Given the description of an element on the screen output the (x, y) to click on. 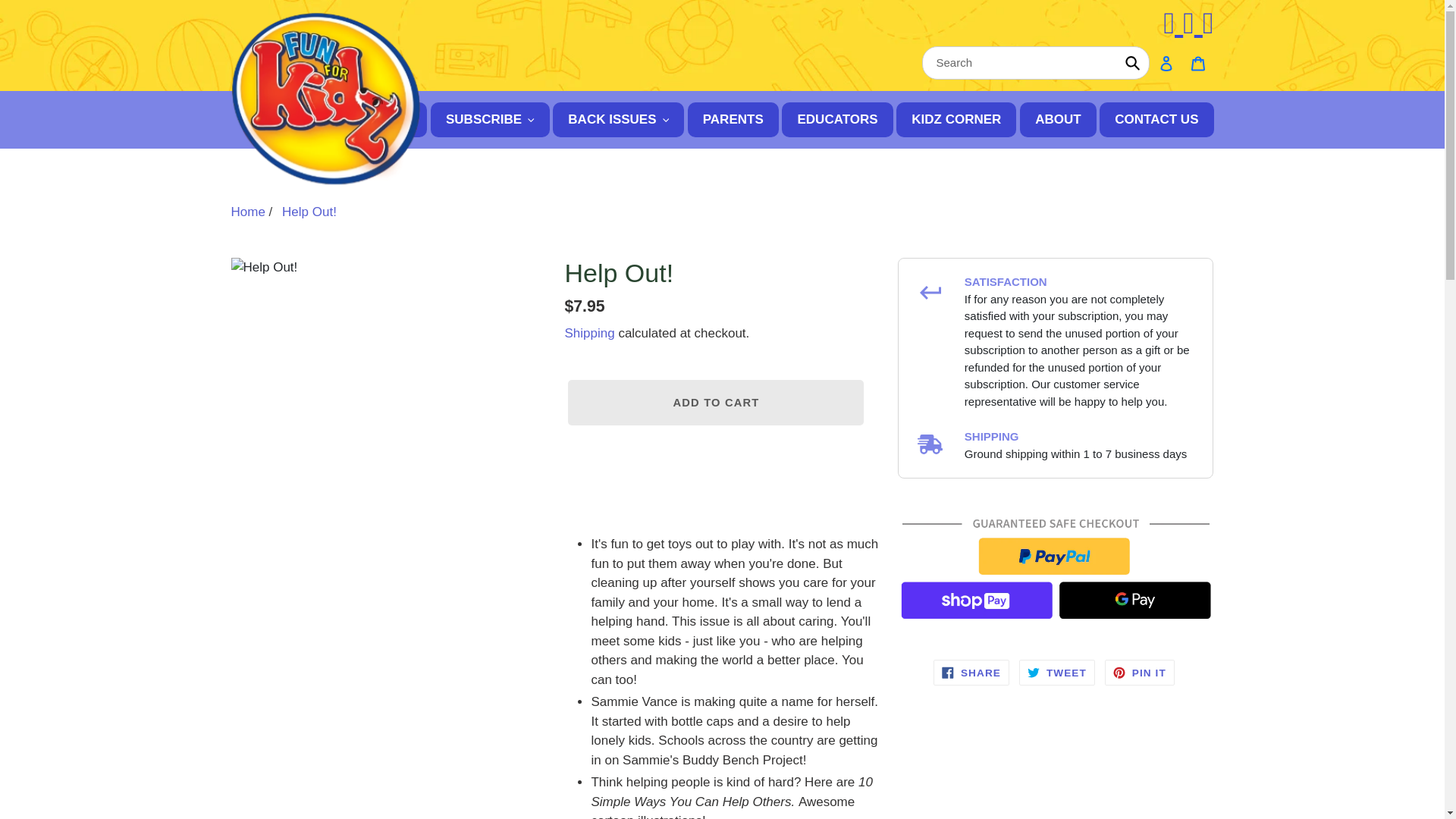
EDUCATORS (836, 119)
CONTACT US (1155, 119)
Log in (1165, 62)
KIDZ CORNER (956, 119)
PARENTS (732, 119)
Cart (1196, 62)
SUBSCRIBE (490, 119)
Submit (1132, 62)
HOME (392, 119)
BACK ISSUES (618, 119)
